Given the description of an element on the screen output the (x, y) to click on. 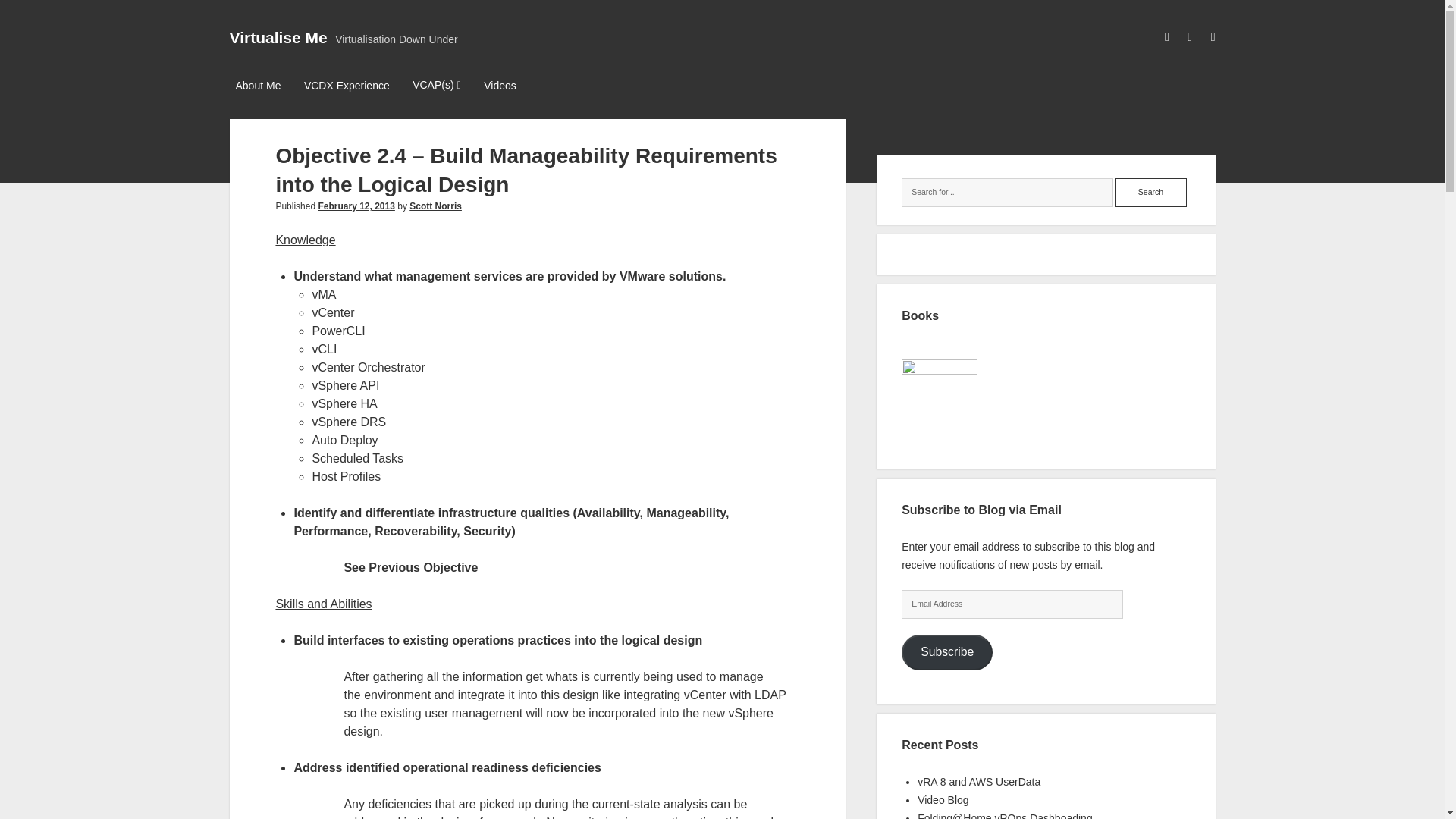
February 12, 2013 (355, 205)
Video Blog (942, 799)
Search (1150, 192)
Videos (499, 85)
Search (1150, 192)
See Previous Objective  (411, 567)
Search for: (1007, 192)
About Me (257, 85)
VCDX Experience (347, 85)
Subscribe (946, 651)
